Given the description of an element on the screen output the (x, y) to click on. 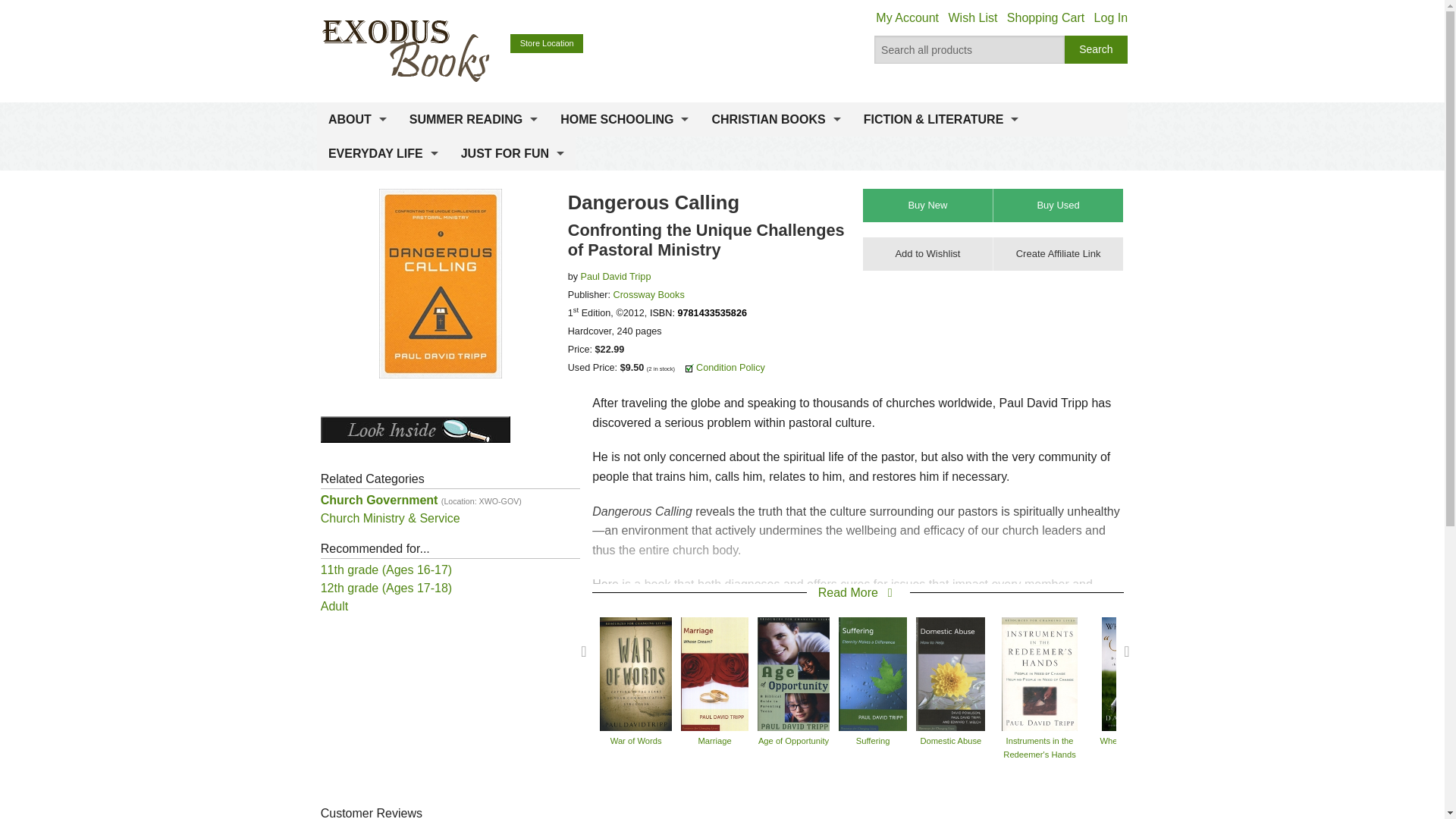
Search (1096, 49)
Buy Used (1057, 205)
War of Words (635, 672)
Meet Exodus Books (357, 156)
Wish List (972, 17)
Create Affiliate Link (1057, 254)
Domestic Abuse (950, 672)
Helping Your Adopted Child (1409, 672)
Add to Wishlist (927, 254)
Buy New (927, 205)
Log In (1110, 17)
Read the Rules (473, 156)
Relationships (1230, 672)
Shopping Cart (1045, 17)
Instruments in the Redeemer's Hands (1039, 672)
